Given the description of an element on the screen output the (x, y) to click on. 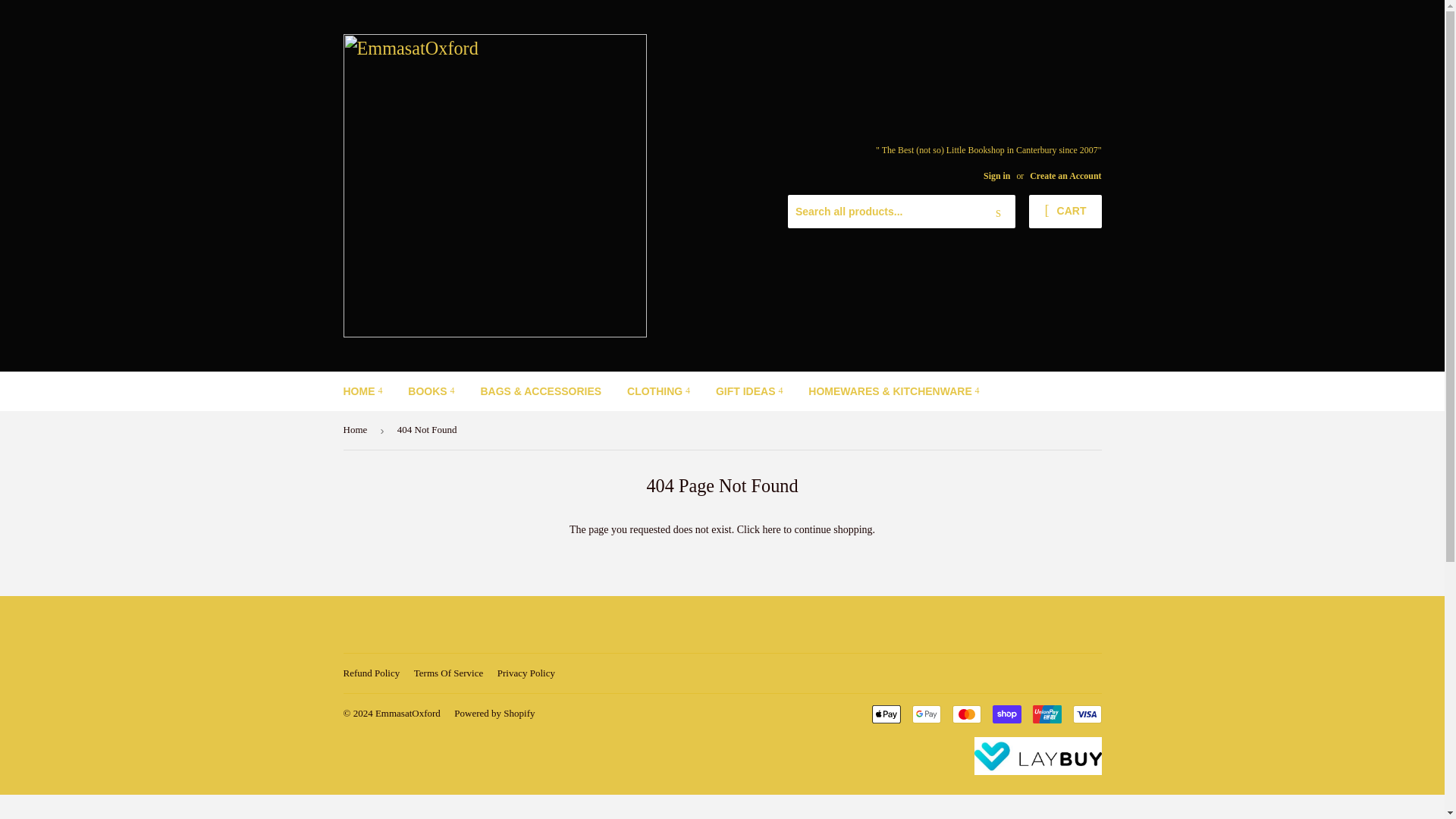
Sign in (997, 175)
Google Pay (925, 714)
CART (1064, 211)
Visa (1085, 714)
Create an Account (1064, 175)
Mastercard (966, 714)
Shop Pay (1005, 714)
Search (997, 212)
Apple Pay (886, 714)
Union Pay (1046, 714)
